Given the description of an element on the screen output the (x, y) to click on. 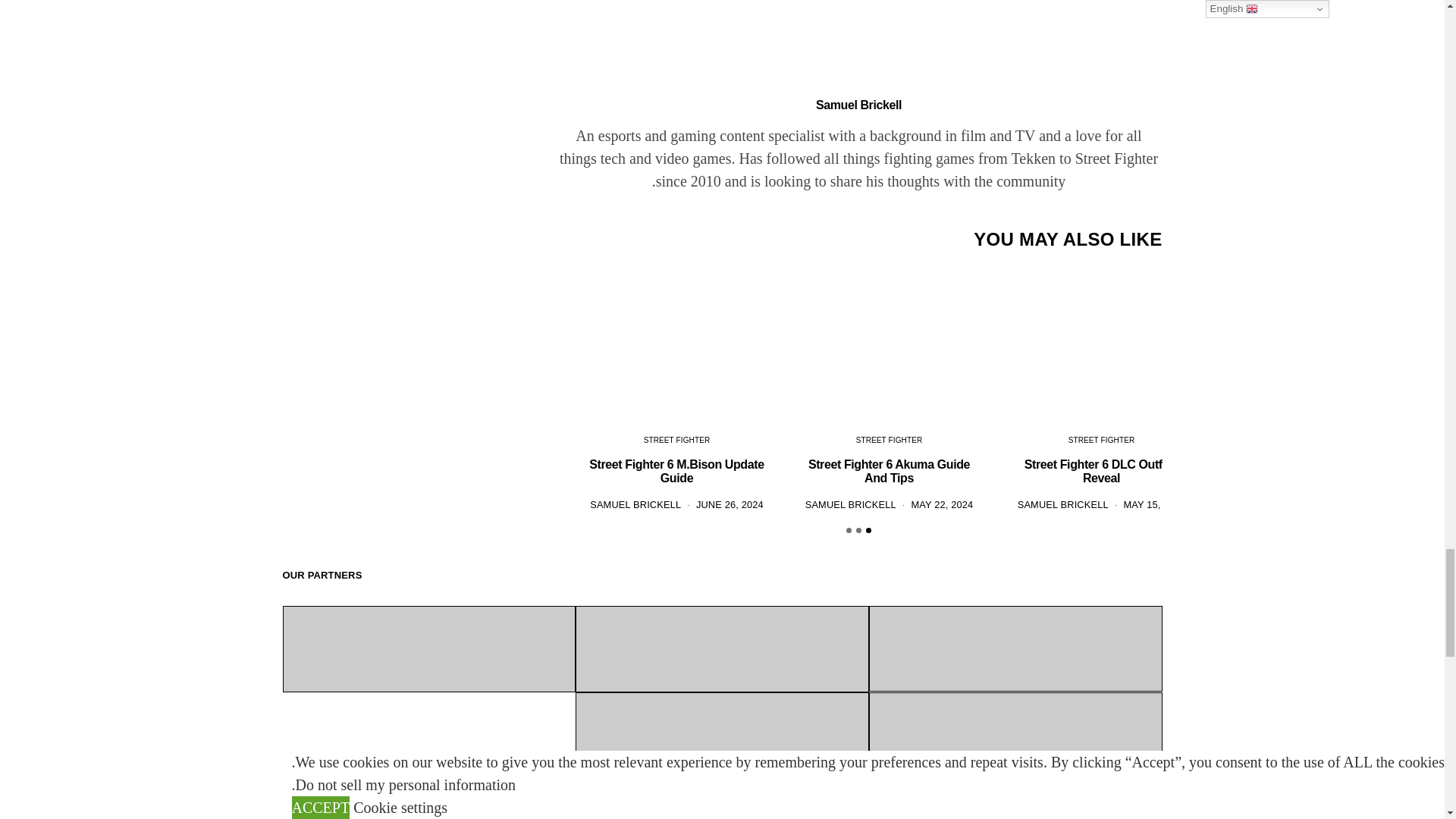
View all posts by Samuel Brickell (850, 504)
View all posts by Samuel Brickell (1062, 504)
View all posts by Samuel Brickell (635, 504)
